Given the description of an element on the screen output the (x, y) to click on. 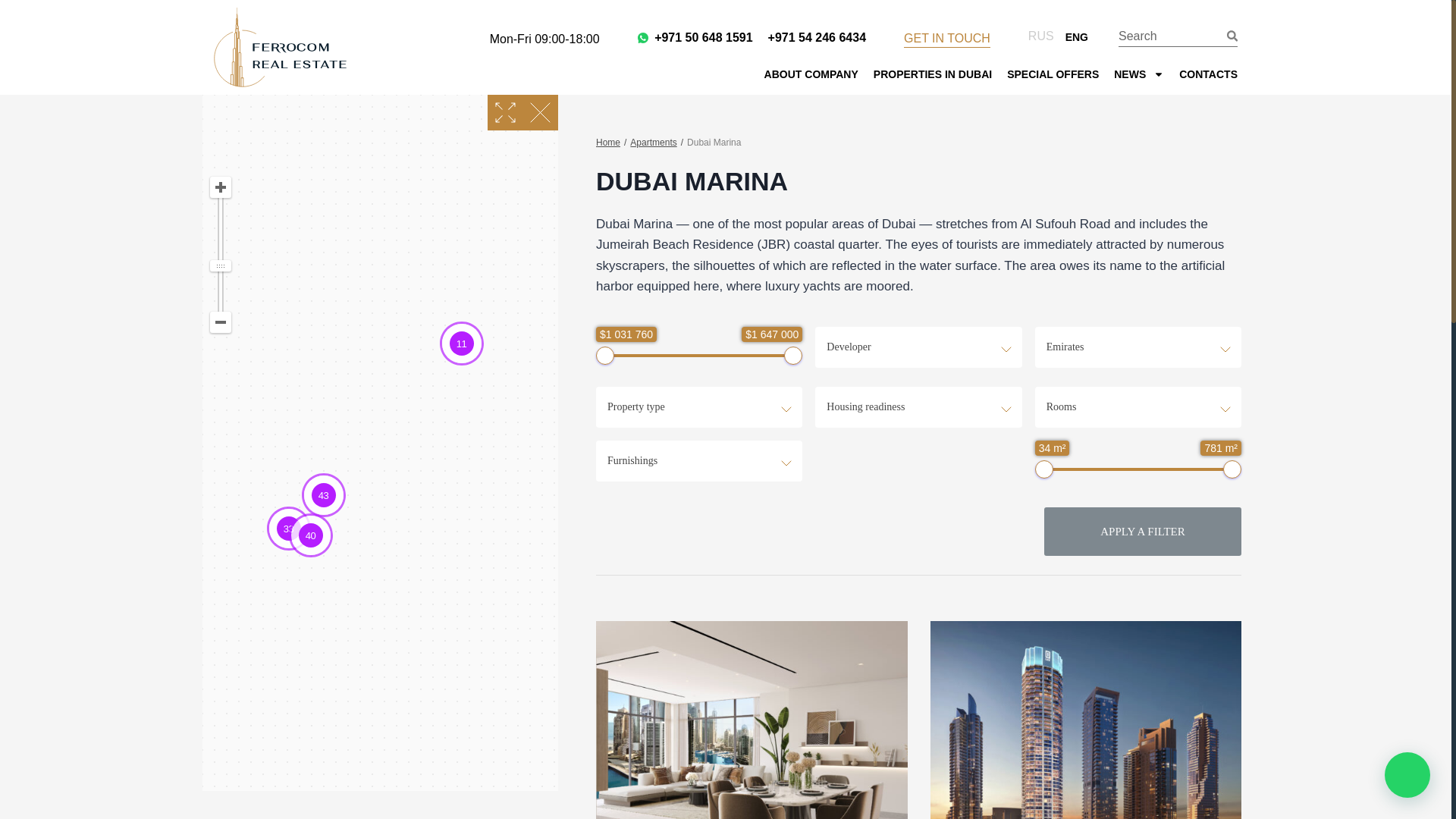
GET IN TOUCH (947, 38)
SPECIAL OFFERS (1053, 73)
Property type (698, 406)
NEWS (1138, 73)
Rooms (1138, 406)
Apartments (653, 142)
ABOUT COMPANY (811, 73)
Developer (918, 346)
Emirates (1138, 346)
CONTACTS (1208, 73)
ENG (1072, 36)
Furnishings (698, 460)
PROPERTIES IN DUBAI (932, 73)
RUS (1037, 36)
Home (607, 142)
